Given the description of an element on the screen output the (x, y) to click on. 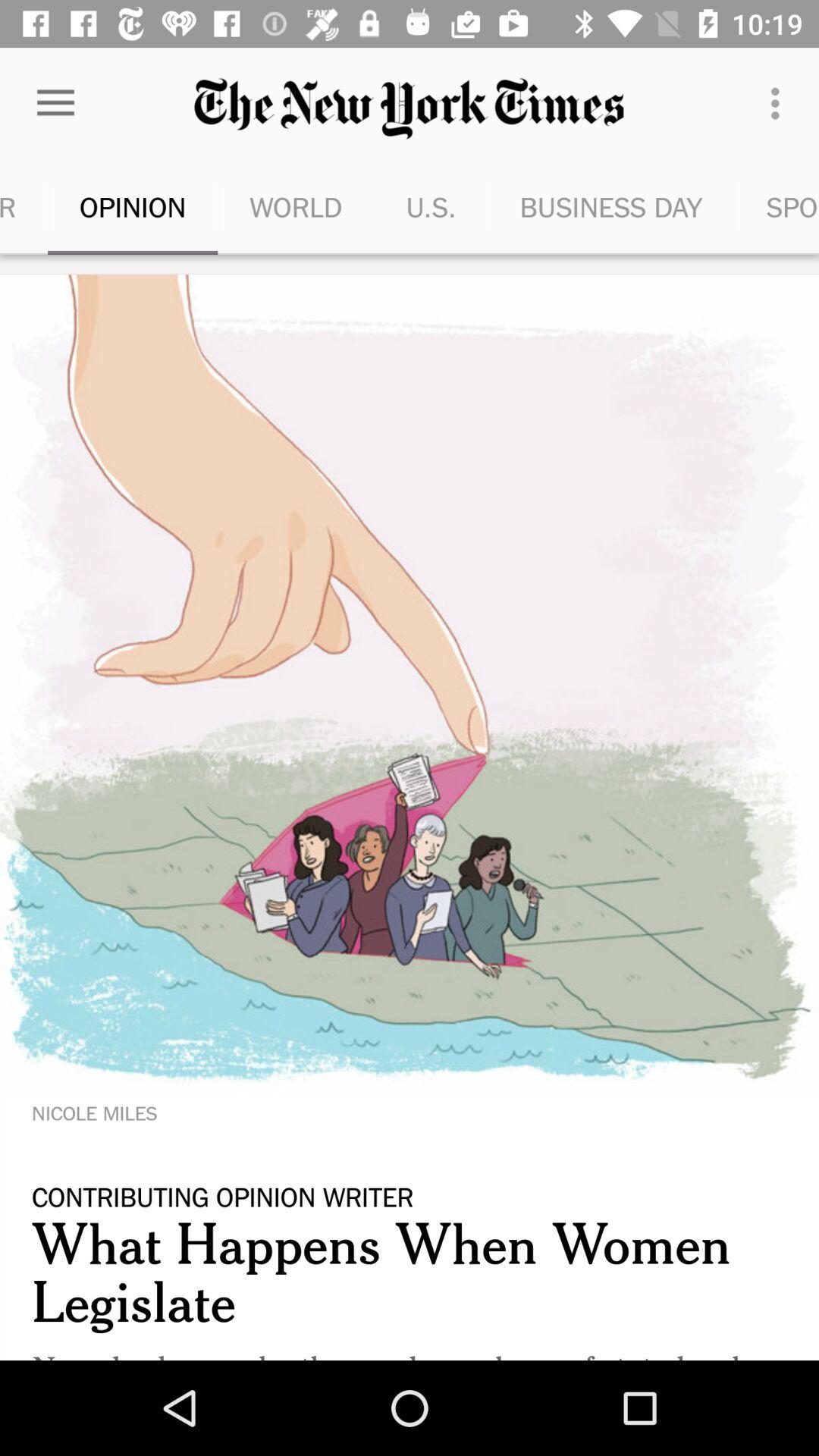
scroll to world (295, 206)
